Given the description of an element on the screen output the (x, y) to click on. 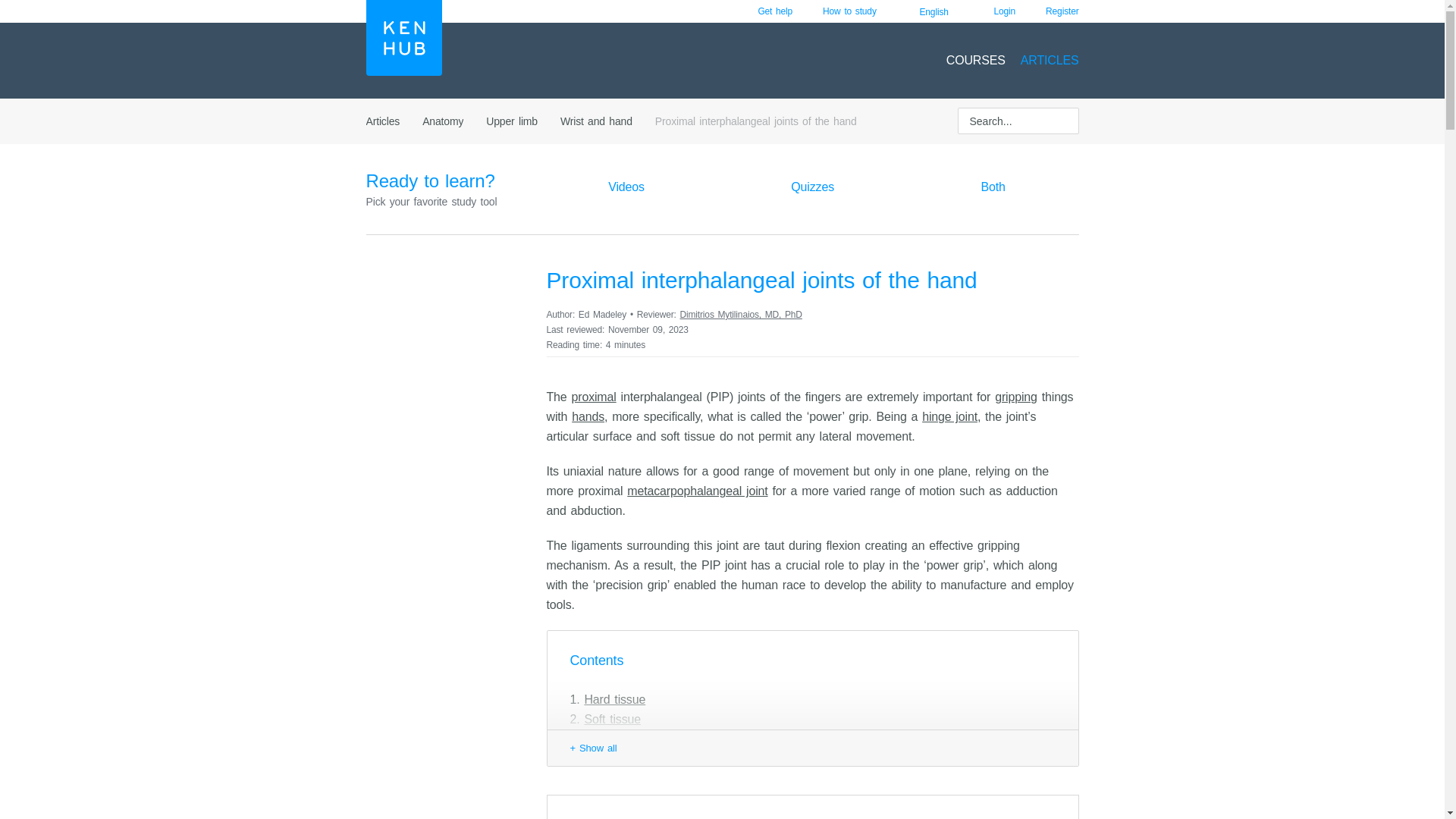
Articles (381, 121)
Anatomy (442, 121)
Wrist and hand (595, 121)
Upper limb (511, 121)
